Given the description of an element on the screen output the (x, y) to click on. 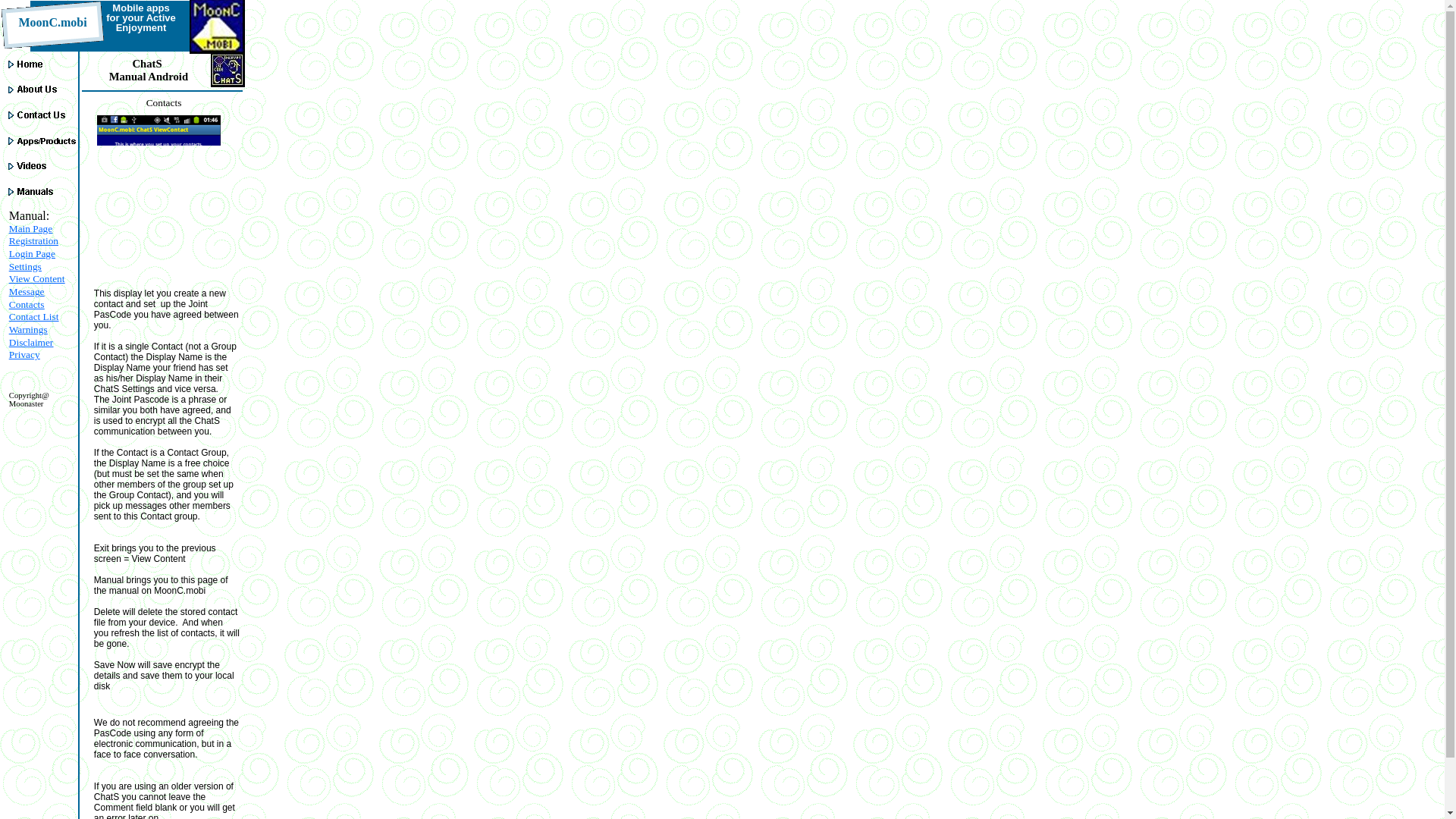
View Content (36, 278)
Disclaimer (30, 342)
Main Page (30, 228)
Login Page (31, 253)
Contacts (26, 304)
Settings (25, 266)
Privacy (24, 354)
Registration (33, 240)
Warnings (28, 328)
Contact List (33, 316)
